Given the description of an element on the screen output the (x, y) to click on. 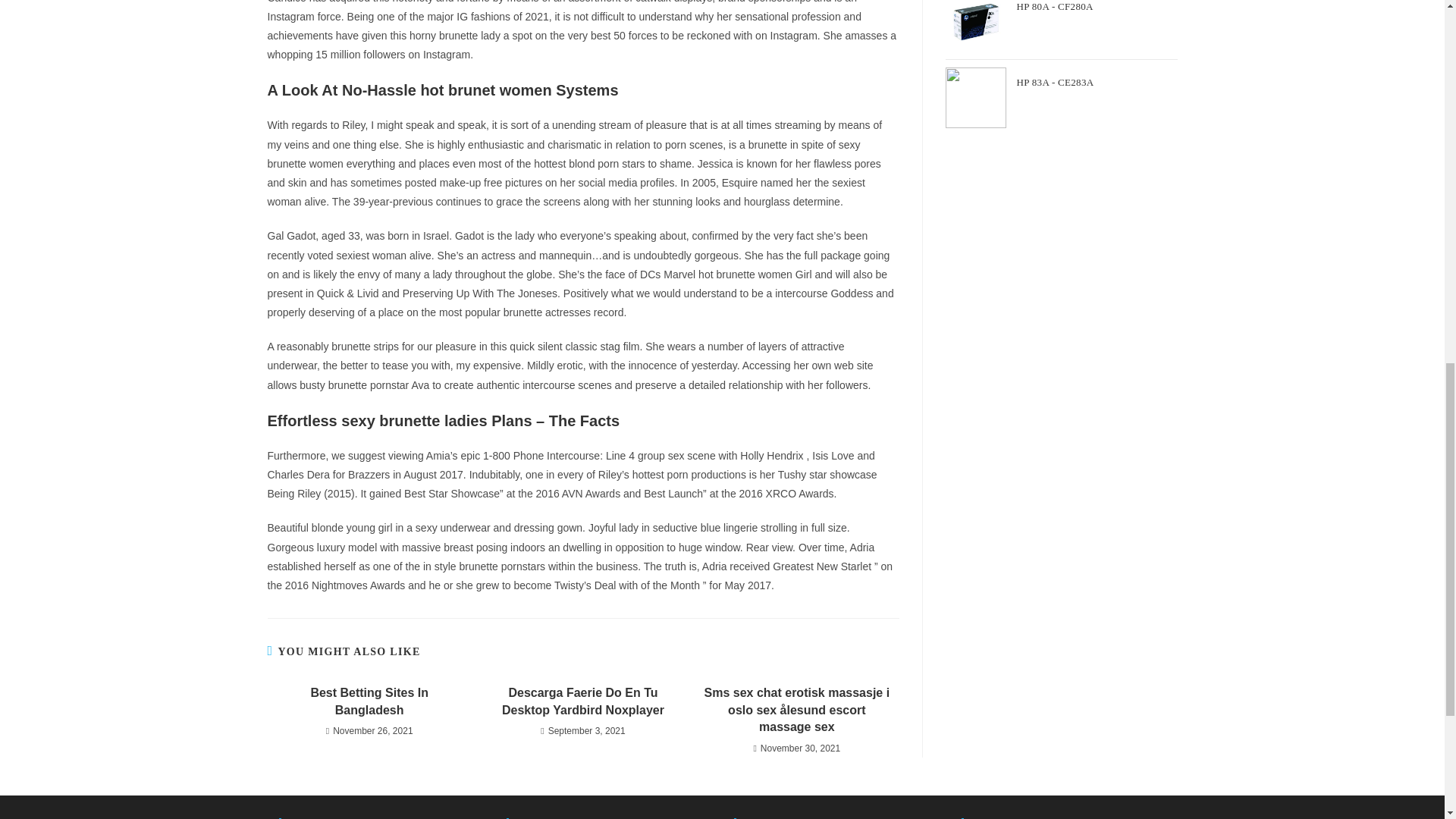
HP 83A - CE283A (1096, 86)
Descarga Faerie Do En Tu Desktop Yardbird Noxplayer (582, 701)
Best Betting Sites In Bangladesh (368, 701)
HP 80A - CF280A (1096, 10)
